Given the description of an element on the screen output the (x, y) to click on. 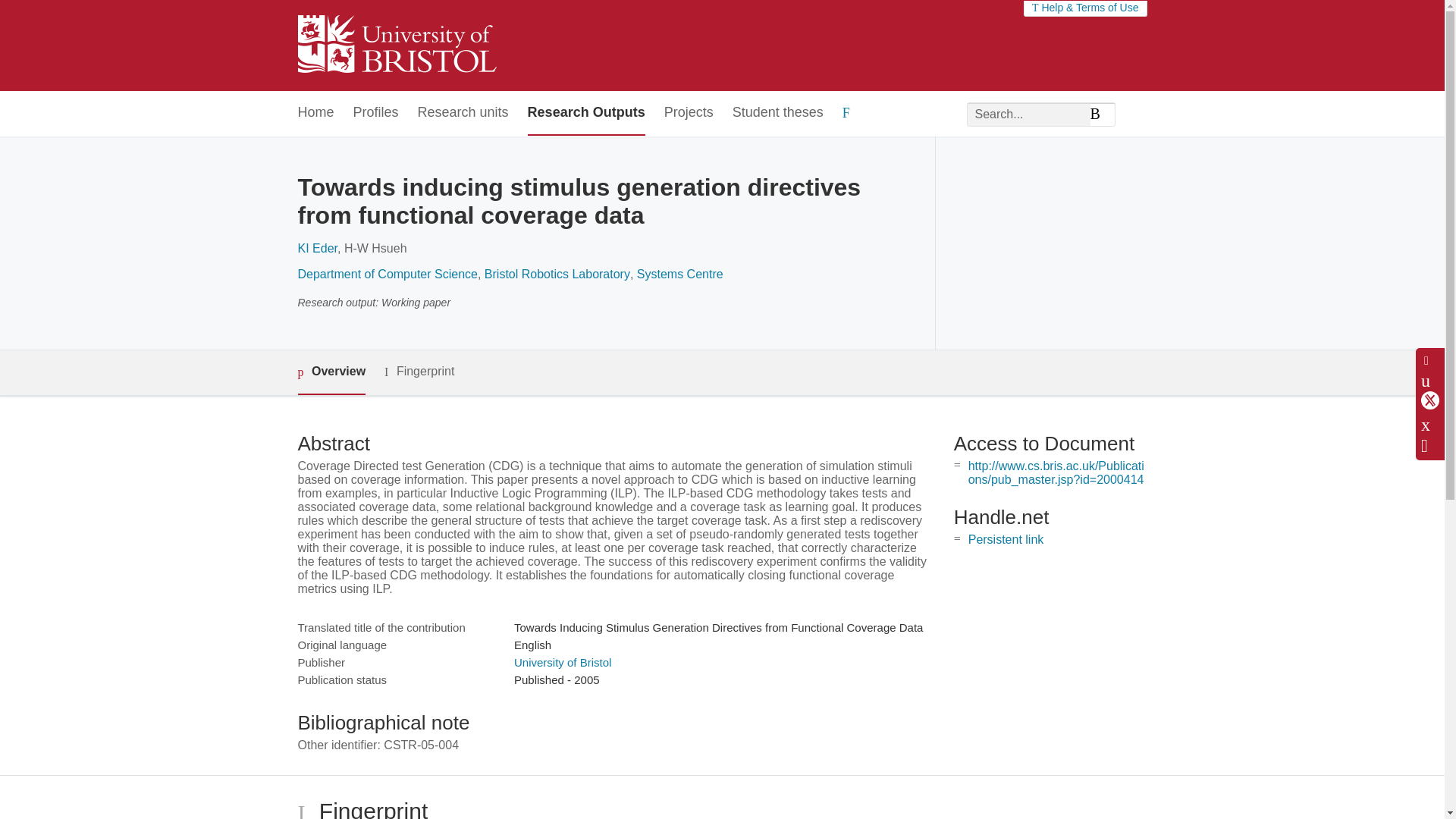
KI Eder (316, 247)
Research Outputs (586, 112)
University of Bristol (562, 662)
Department of Computer Science (387, 273)
Persistent link (1005, 539)
Bristol Robotics Laboratory (557, 273)
Profiles (375, 112)
Overview (331, 372)
Systems Centre (680, 273)
